Given the description of an element on the screen output the (x, y) to click on. 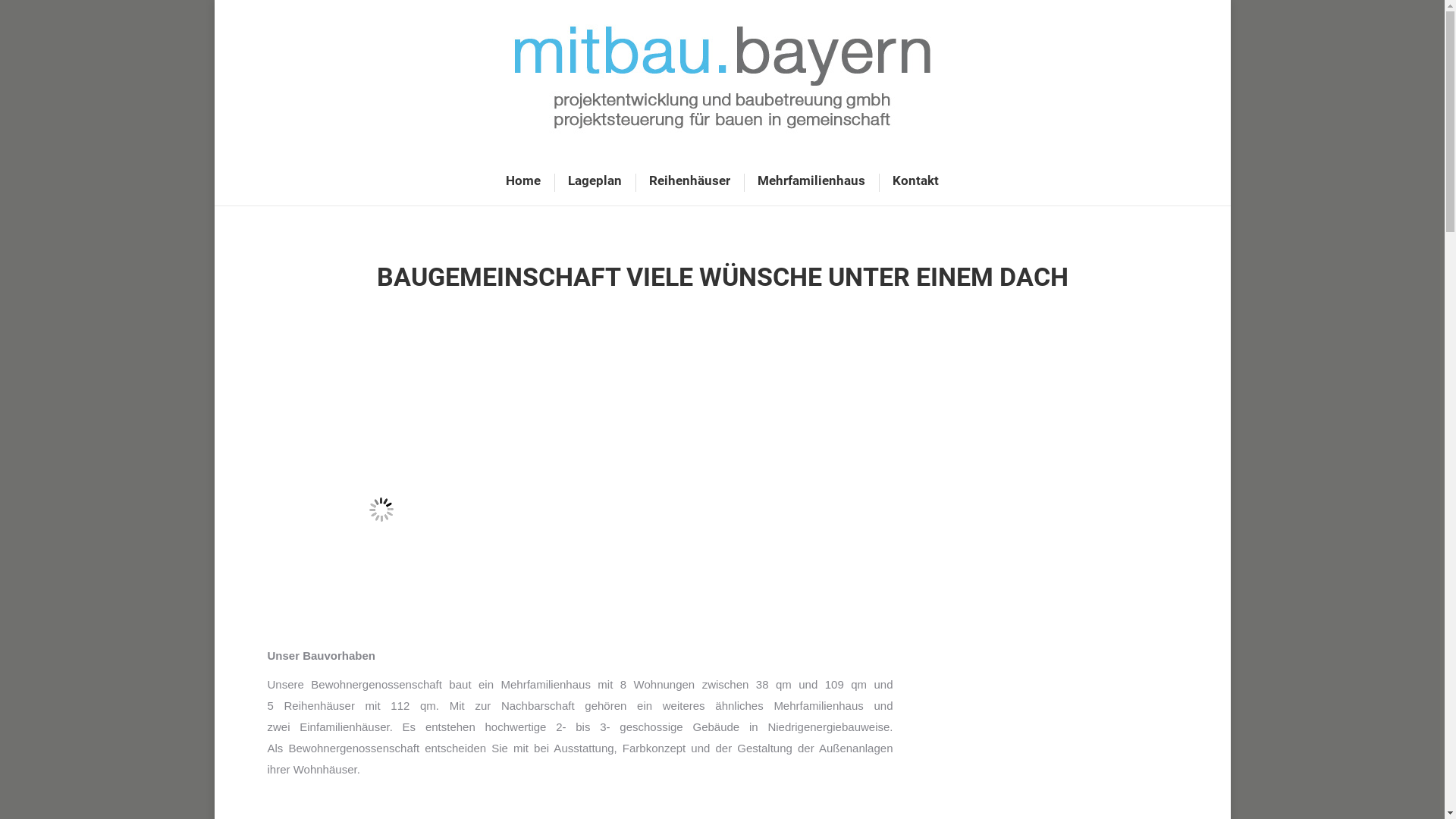
Lageplan Element type: text (594, 180)
Kontakt Element type: text (915, 180)
Mehrfamilienhaus Element type: text (811, 180)
Kommentar abschicken Element type: text (70, 14)
Home Element type: text (522, 180)
